Given the description of an element on the screen output the (x, y) to click on. 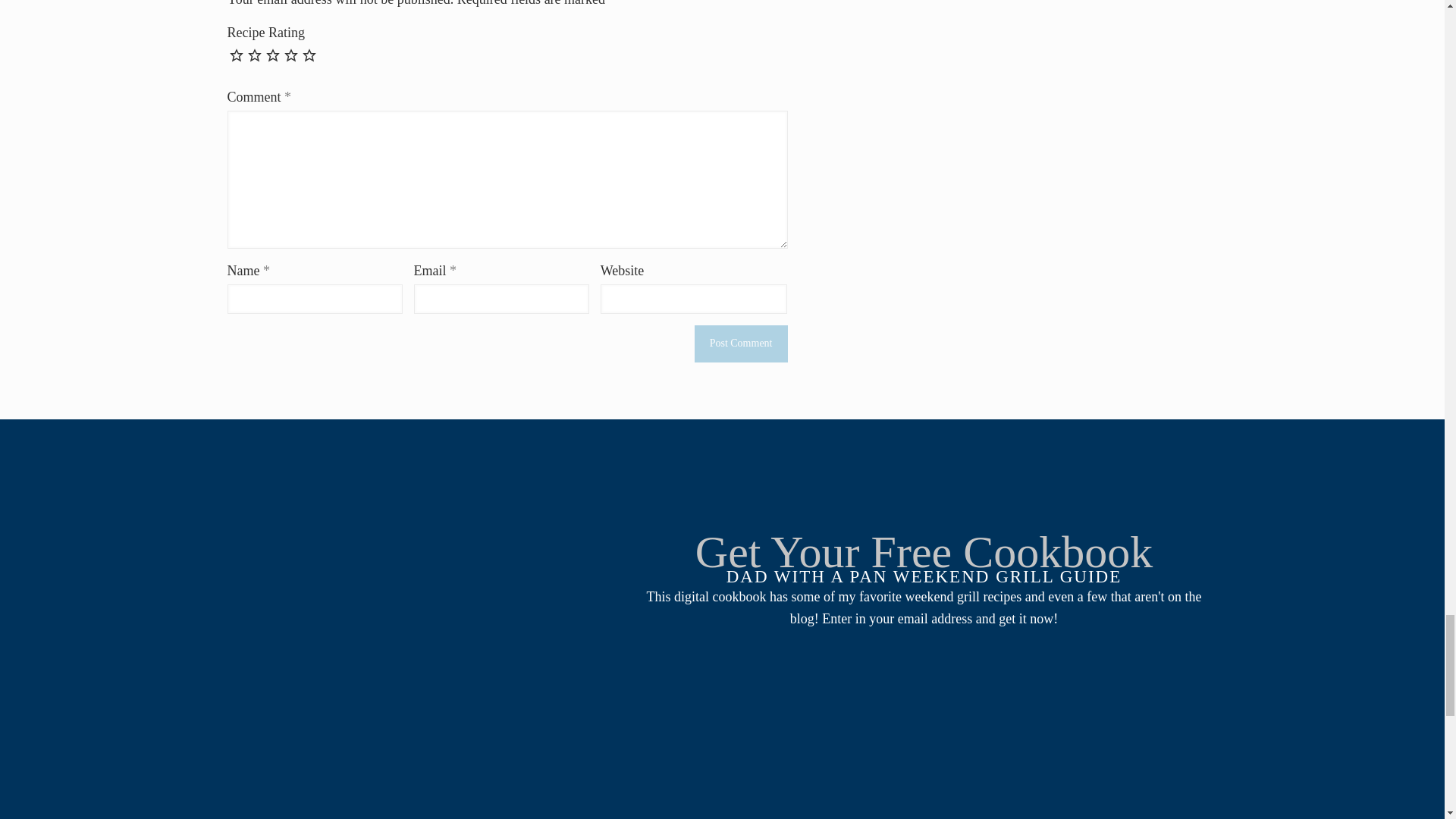
Post Comment (740, 343)
